Given the description of an element on the screen output the (x, y) to click on. 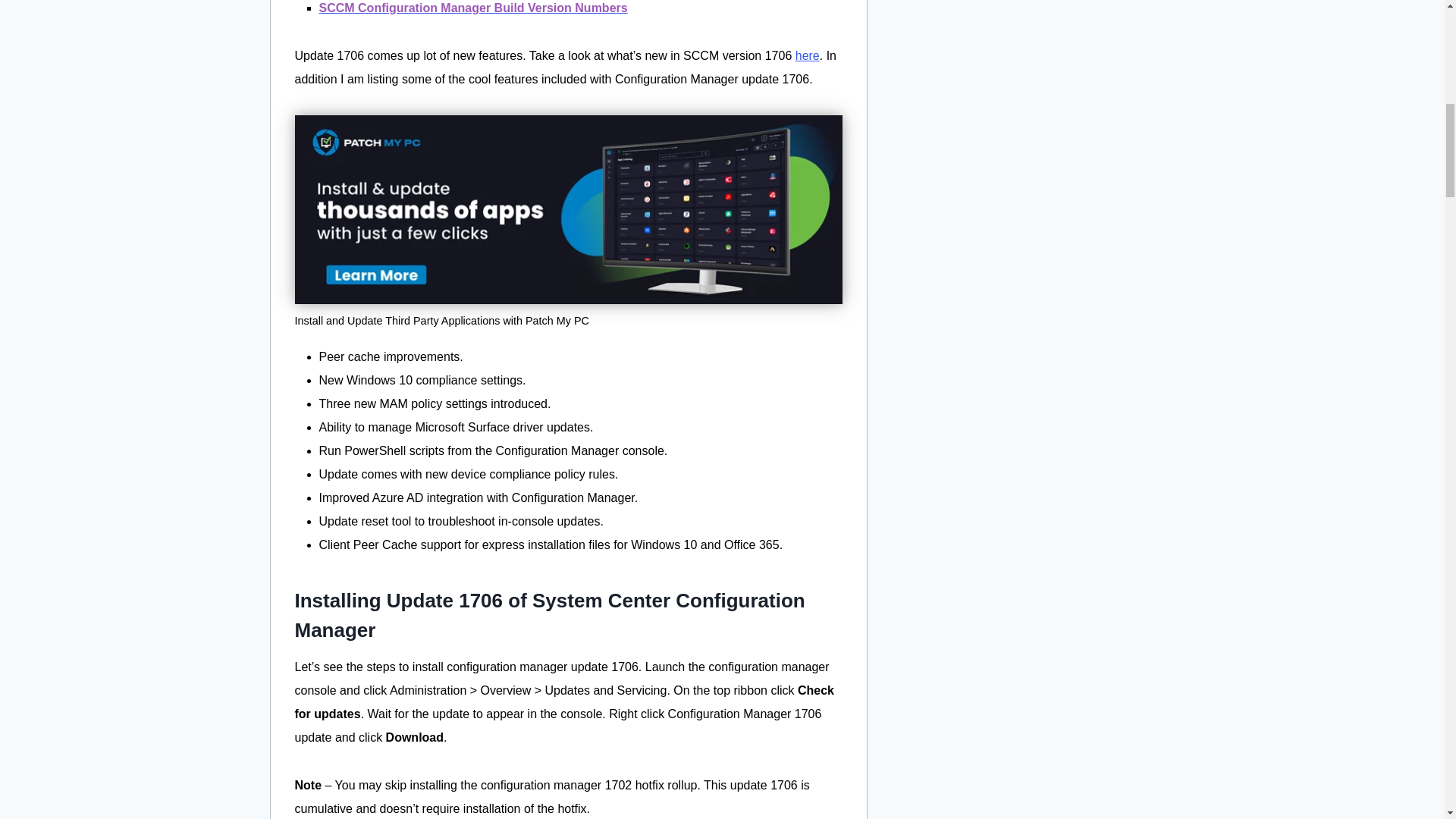
Install and Update Third Party Applications with Patch My PC (567, 209)
here (806, 55)
SCCM Configuration Manager Build Version Numbers (472, 7)
